Given the description of an element on the screen output the (x, y) to click on. 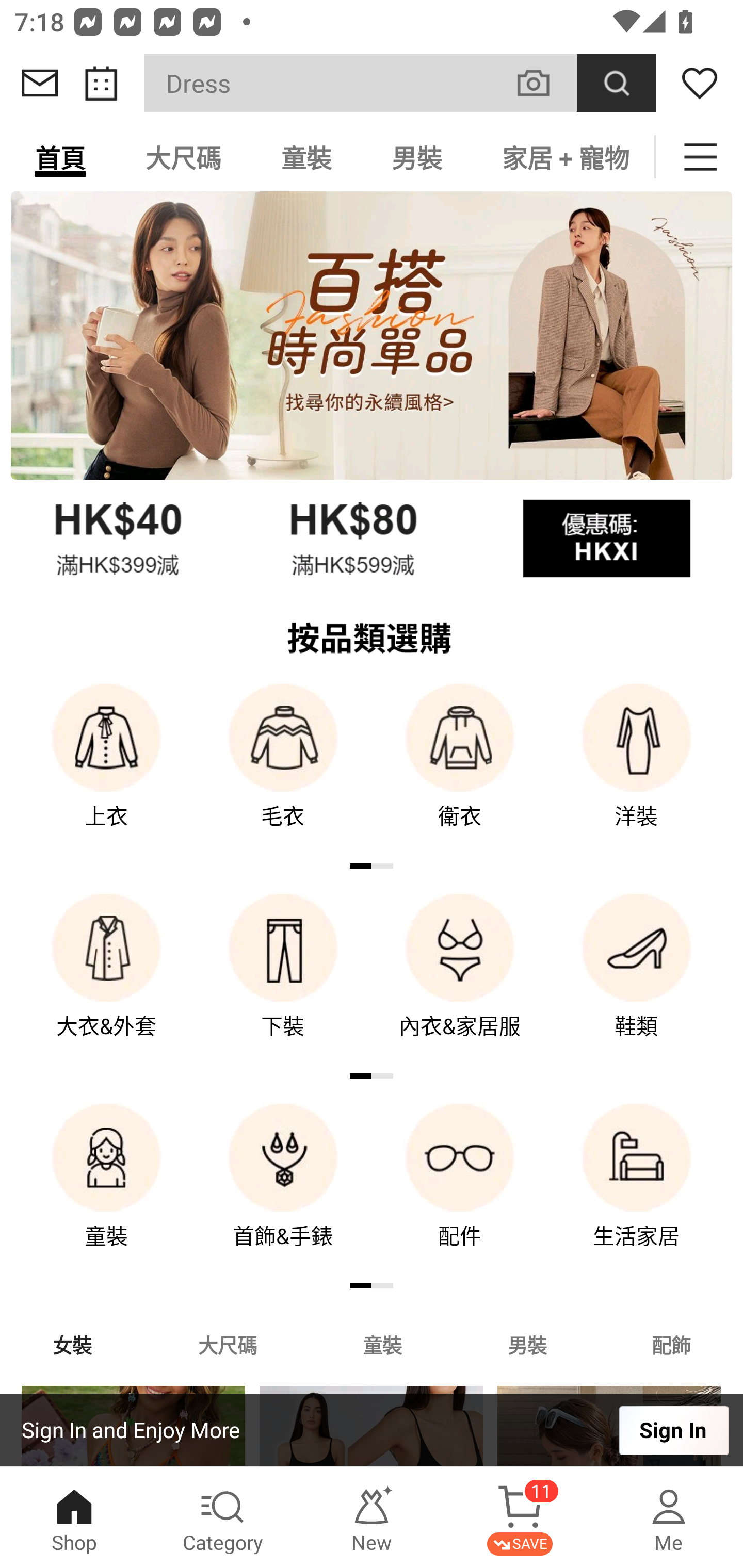
Wishlist (699, 82)
VISUAL SEARCH (543, 82)
首頁 (60, 156)
大尺碼 (183, 156)
童裝 (306, 156)
男裝 (416, 156)
家居 + 寵物 (563, 156)
上衣 (105, 769)
毛衣 (282, 769)
衛衣 (459, 769)
洋裝 (636, 769)
大衣&外套 (105, 979)
下裝 (282, 979)
內衣&家居服 (459, 979)
鞋類 (636, 979)
童裝 (105, 1189)
首飾&手錶 (282, 1189)
配件 (459, 1189)
生活家居 (636, 1189)
女裝 (72, 1344)
大尺碼 (226, 1344)
童裝 (381, 1344)
男裝 (527, 1344)
配飾 (671, 1344)
Sign In and Enjoy More Sign In (371, 1429)
Category (222, 1517)
New (371, 1517)
Cart 11 SAVE (519, 1517)
Me (668, 1517)
